Given the description of an element on the screen output the (x, y) to click on. 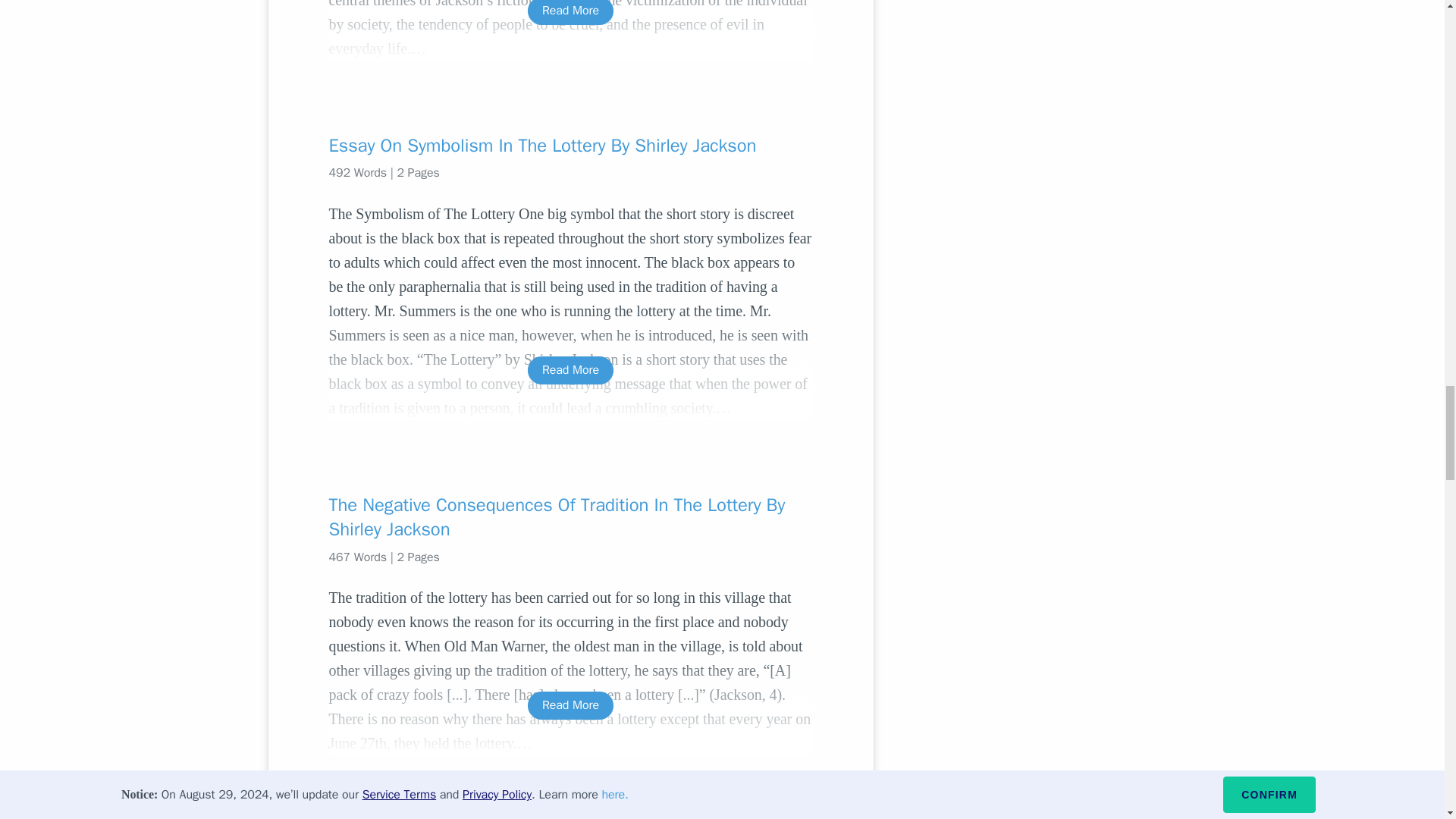
Essay On Symbolism In The Lottery By Shirley Jackson (570, 145)
Read More (569, 12)
Read More (569, 370)
Read More (569, 705)
